Given the description of an element on the screen output the (x, y) to click on. 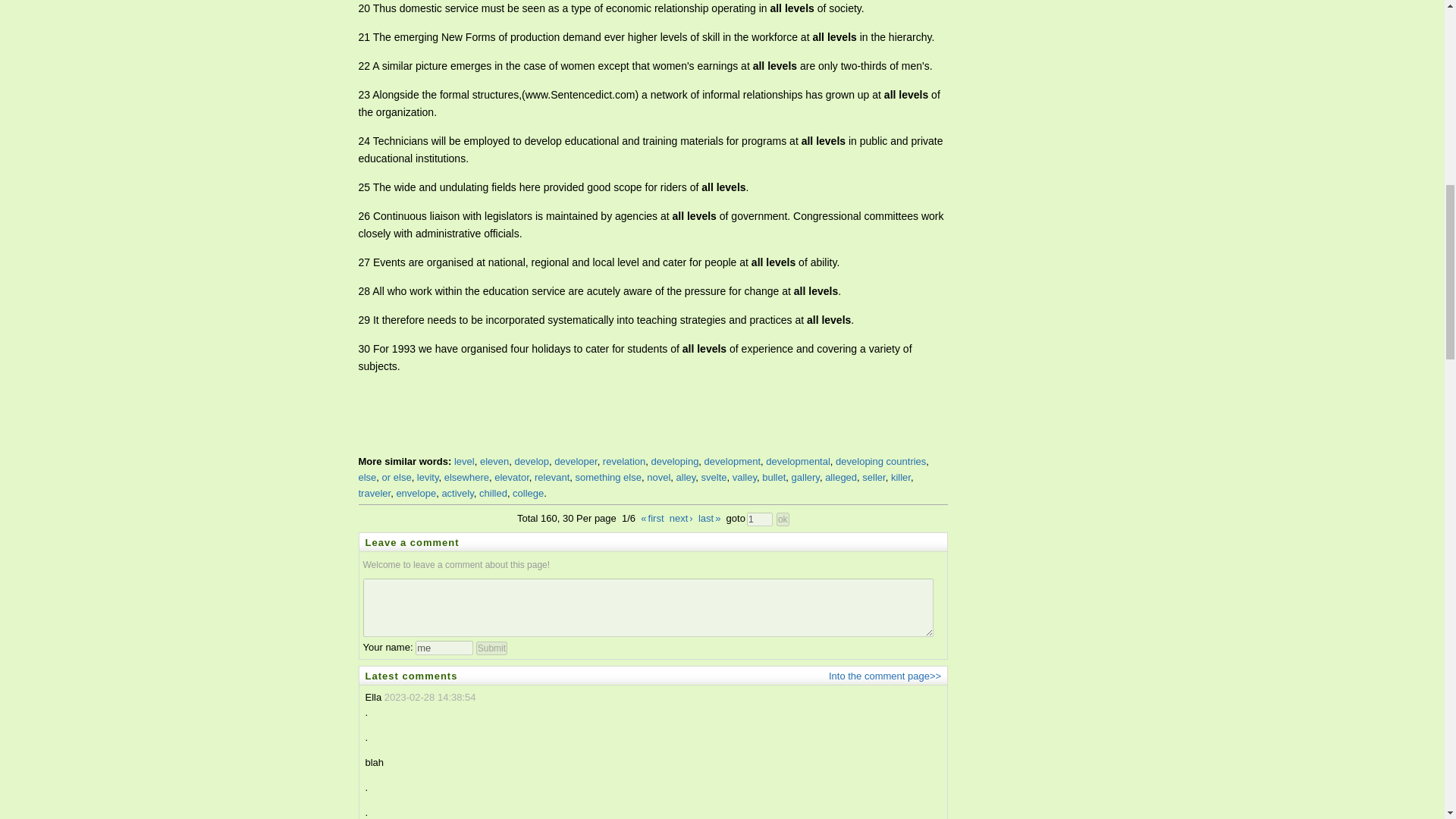
developmental (797, 460)
level (464, 460)
eleven (494, 460)
developing countries (880, 460)
else (366, 477)
ok (782, 519)
revelation (623, 460)
levity (427, 477)
me (443, 647)
or else (396, 477)
developing (674, 460)
elevator (512, 477)
something else (608, 477)
elsewhere (466, 477)
development (732, 460)
